Given the description of an element on the screen output the (x, y) to click on. 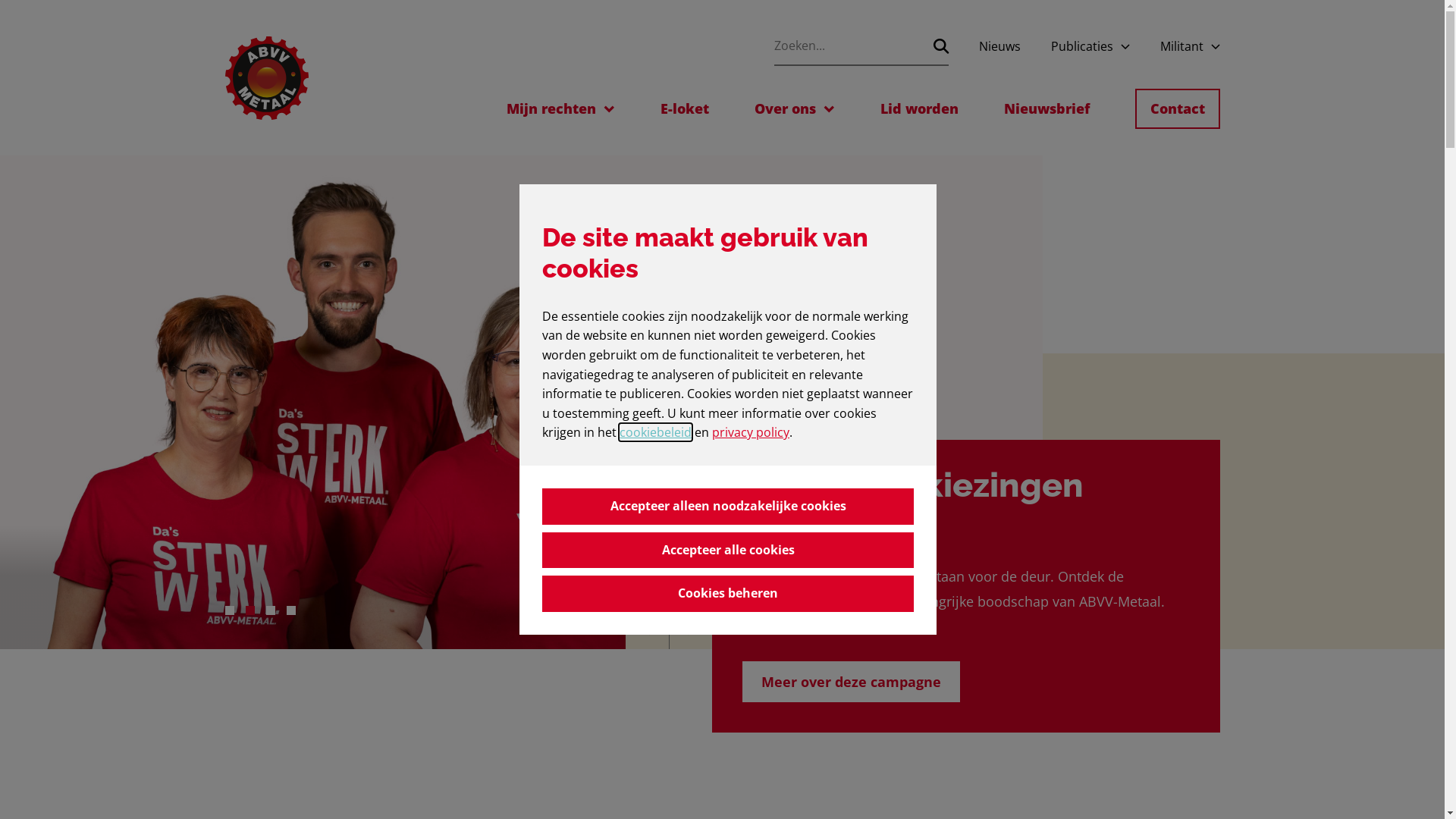
Overslaan en naar de inhoud gaan Element type: text (0, 0)
Meer over deze campagne Element type: text (850, 681)
Mijn rechten Element type: text (551, 108)
4 Element type: text (290, 610)
Cookies beheren Element type: text (727, 593)
E-loket Element type: text (683, 108)
Nieuws Element type: text (998, 46)
Zoeken Element type: text (939, 45)
privacy policy Element type: text (750, 431)
1 Element type: text (228, 610)
Lid worden Element type: text (918, 108)
cookiebeleid Element type: text (655, 431)
Nieuwsbrief Element type: text (1046, 108)
Next Element type: text (690, 627)
Accepteer alleen noodzakelijke cookies Element type: text (727, 506)
3 Element type: text (269, 610)
Contact Element type: text (1176, 108)
2 Element type: text (249, 610)
Publicaties Element type: text (1082, 46)
Over ons Element type: text (784, 108)
Previous Element type: text (646, 627)
Accepteer alle cookies Element type: text (727, 550)
Home Element type: hover (265, 77)
Militant Element type: text (1181, 46)
